Given the description of an element on the screen output the (x, y) to click on. 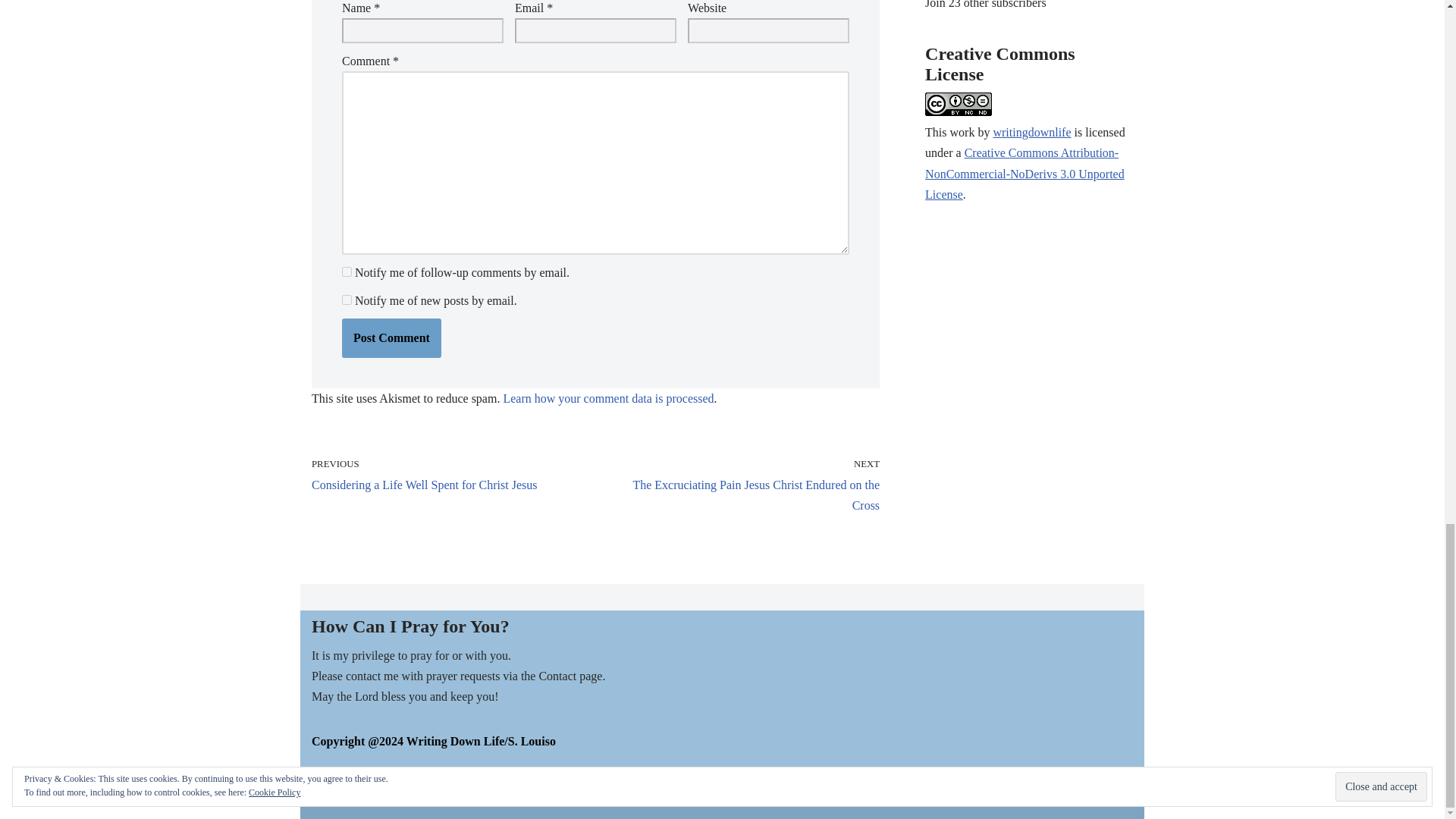
subscribe (347, 271)
subscribe (347, 299)
Post Comment (391, 337)
